Given the description of an element on the screen output the (x, y) to click on. 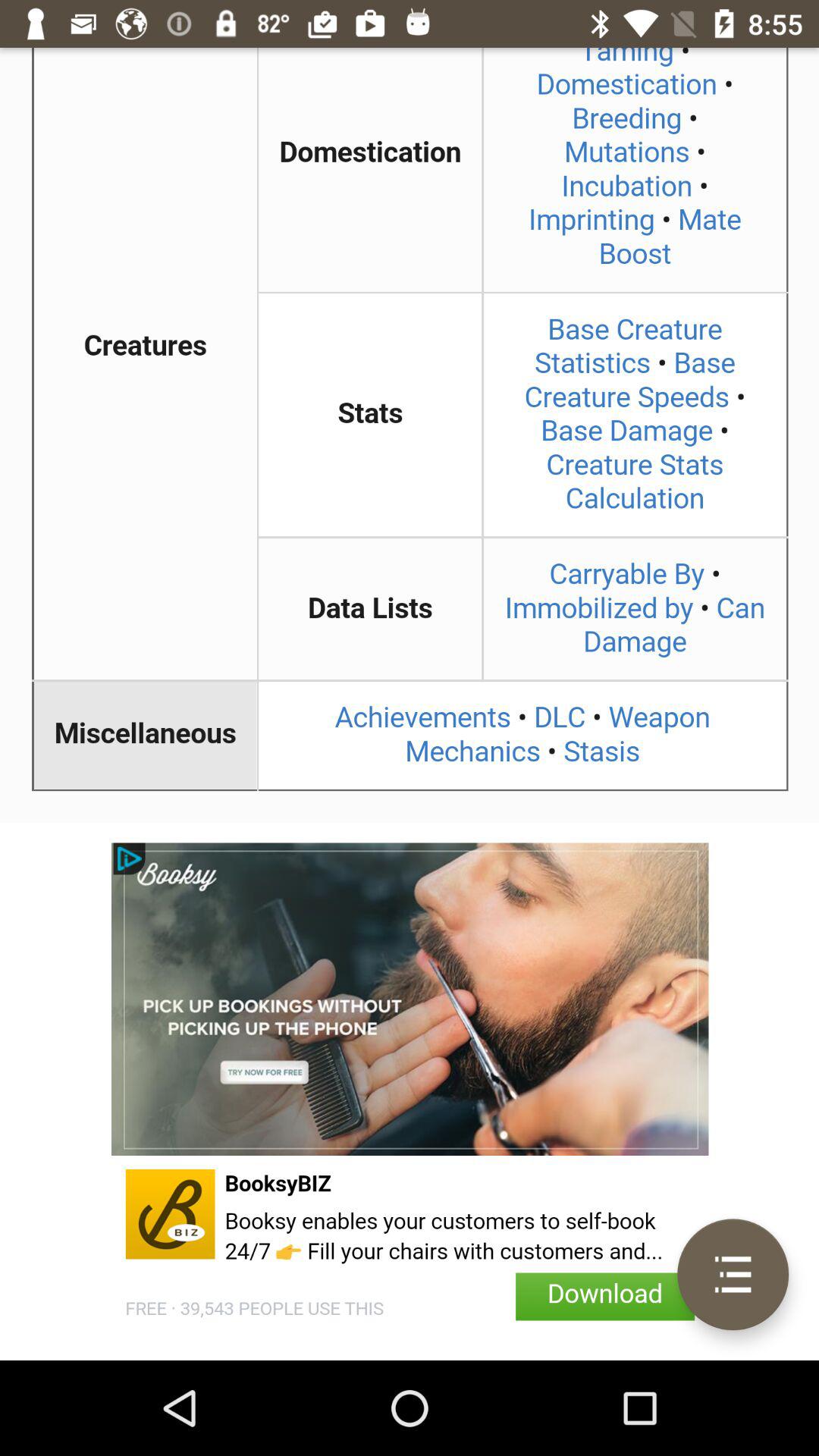
information breakdown (409, 434)
